Given the description of an element on the screen output the (x, y) to click on. 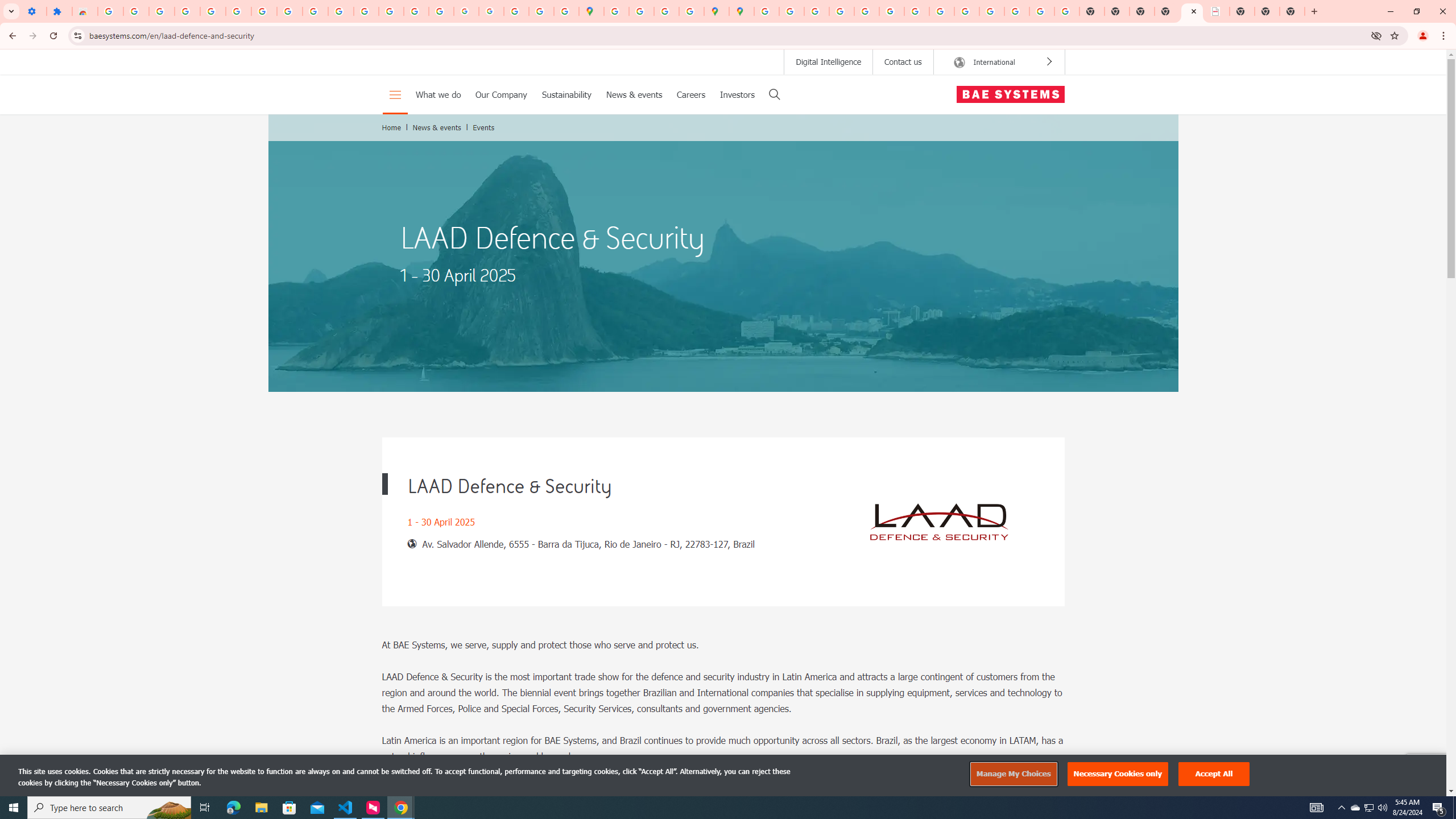
Careers (690, 94)
Reviews: Helix Fruit Jump Arcade Game (84, 11)
New Tab (1292, 11)
AutomationID: region-selector-top (999, 61)
Investors (737, 94)
Privacy (1417, 783)
Sustainability (566, 94)
